Given the description of an element on the screen output the (x, y) to click on. 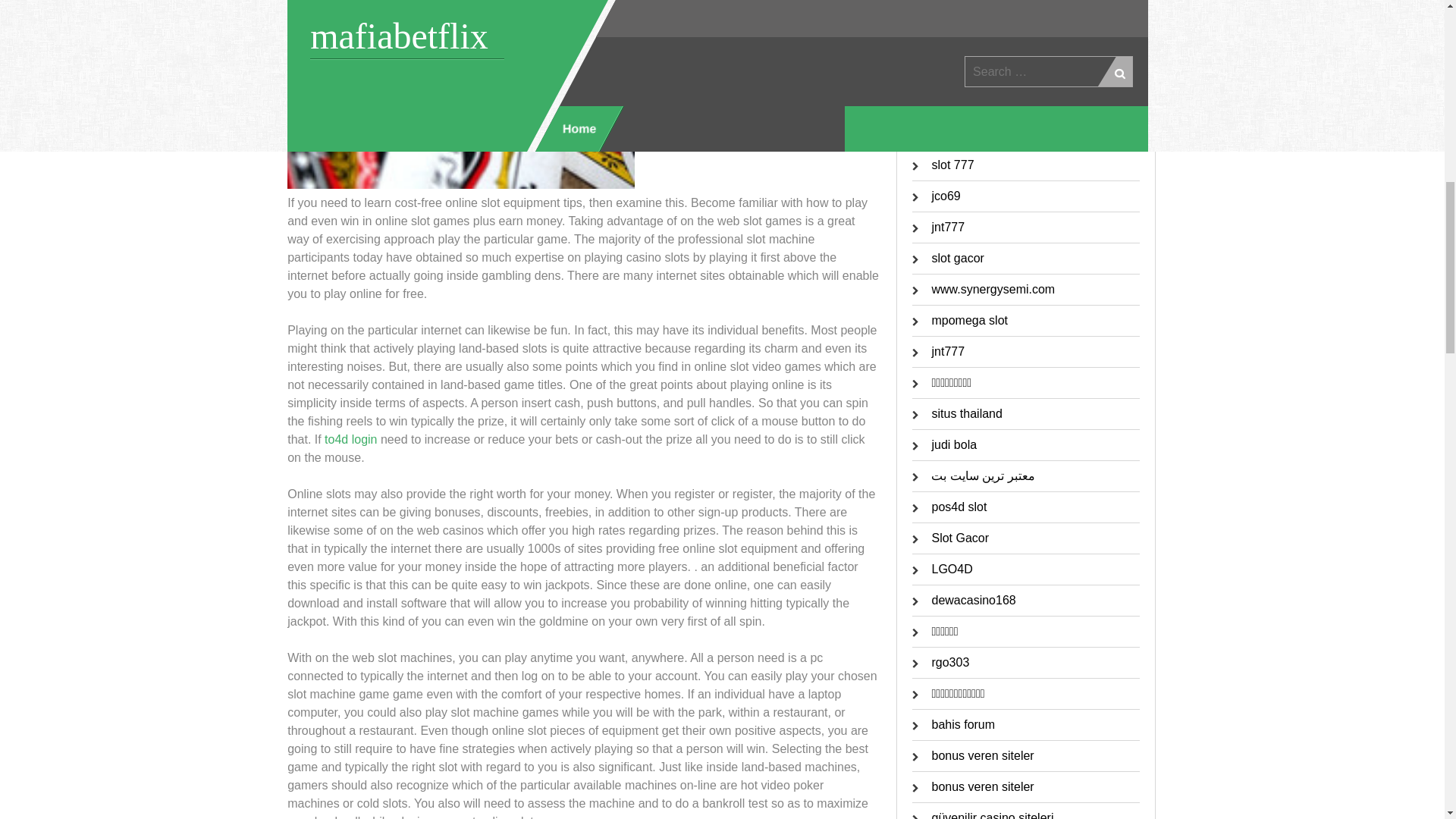
jnt777 (947, 226)
olx toto (951, 40)
jnt777 (947, 133)
jco69 (945, 195)
slot gacor (957, 257)
Bola Slot (955, 71)
to4d login (350, 439)
pos4d login (961, 102)
slot 777 (952, 164)
